Given the description of an element on the screen output the (x, y) to click on. 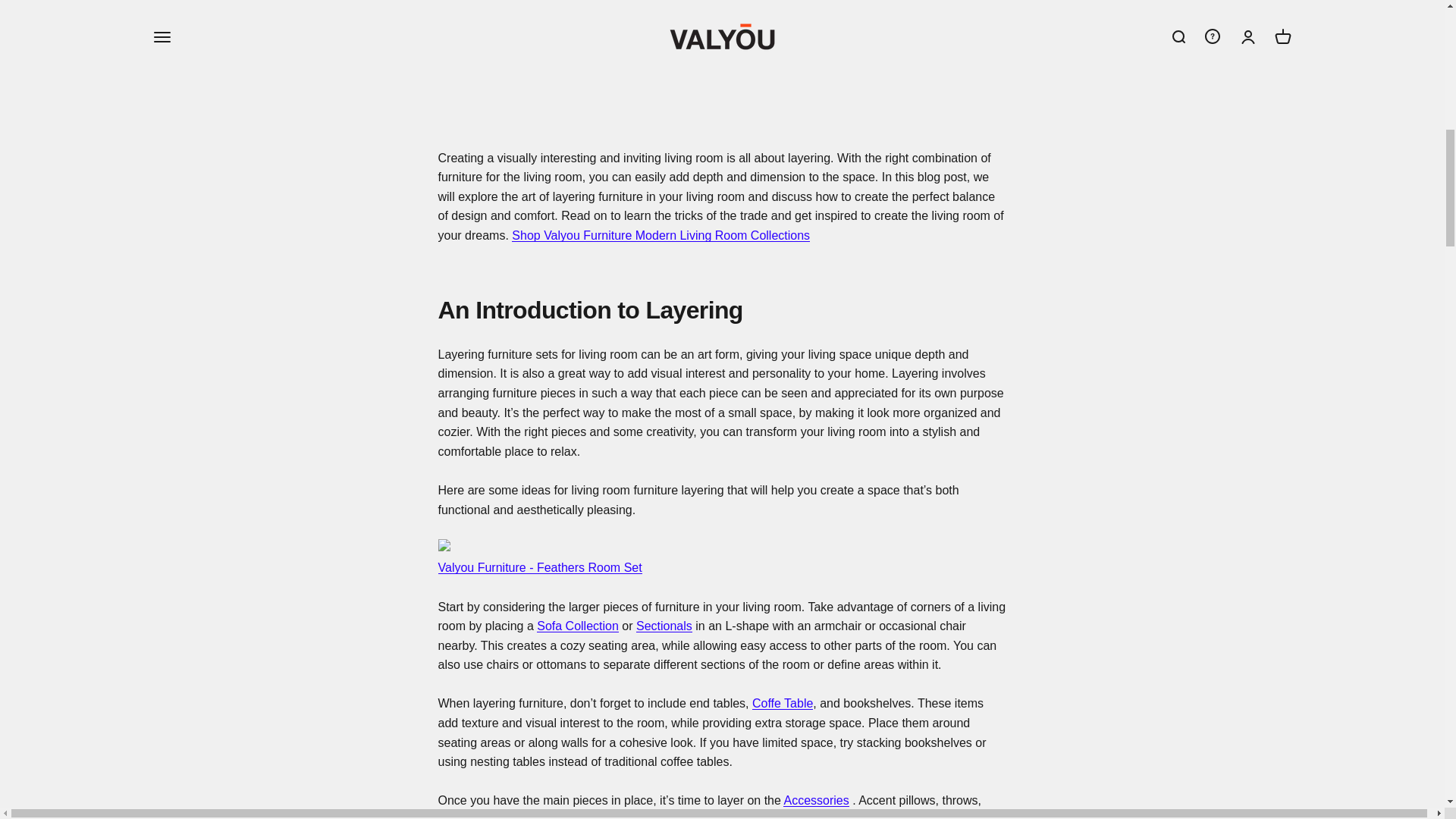
Bedroom furniture (577, 625)
Bedroom furniture (459, 816)
Bedroom furniture (782, 703)
Feathers Room Set (540, 567)
Modern Living Room Collection (660, 235)
Shop Valyou Furniture Modern Living Room Collections (660, 235)
Valyou Furniture - Feathers Room Set (540, 567)
Bedroom furniture (815, 799)
Bedroom furniture (664, 625)
